Given the description of an element on the screen output the (x, y) to click on. 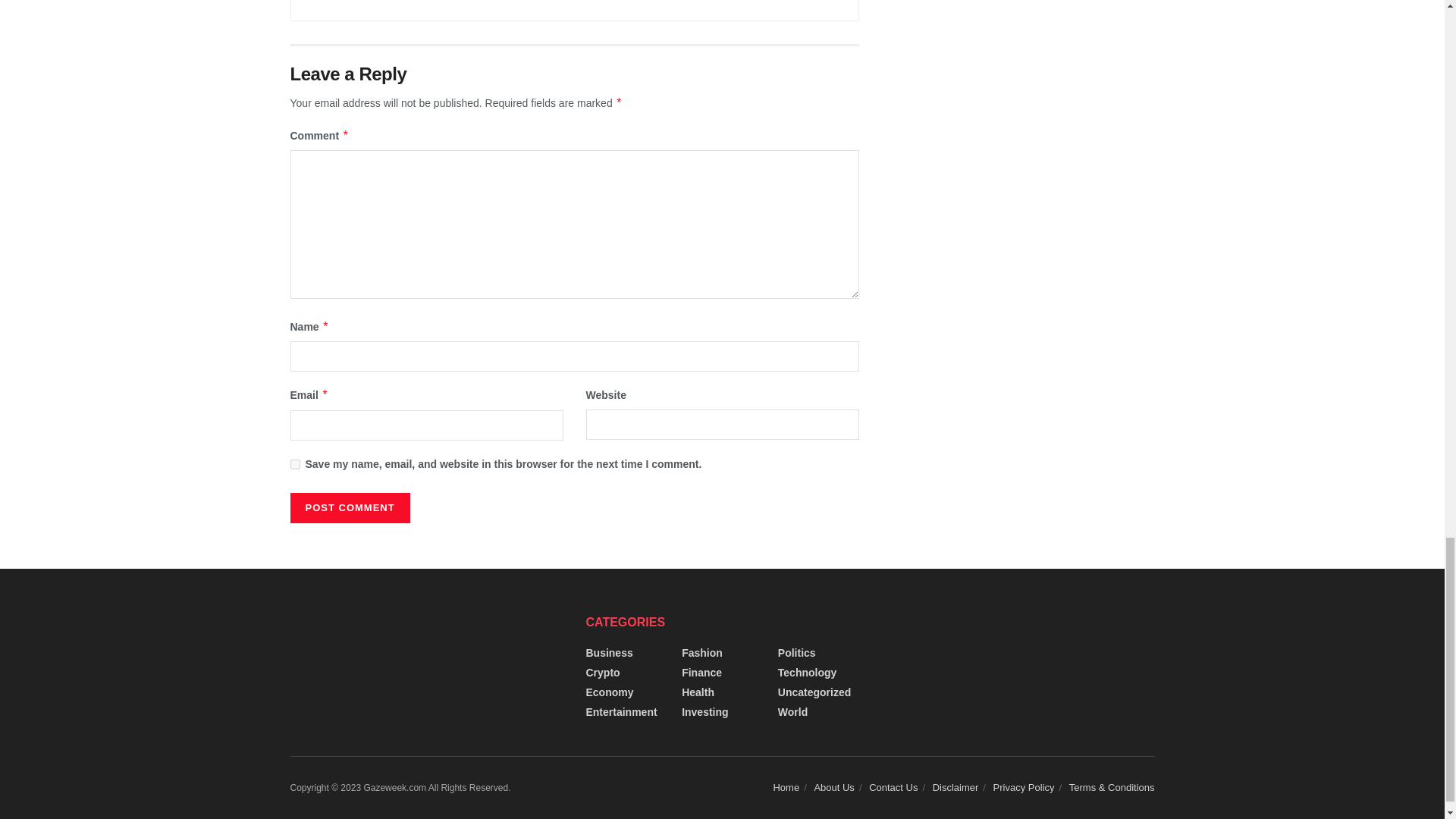
Post Comment (349, 508)
yes (294, 464)
